Given the description of an element on the screen output the (x, y) to click on. 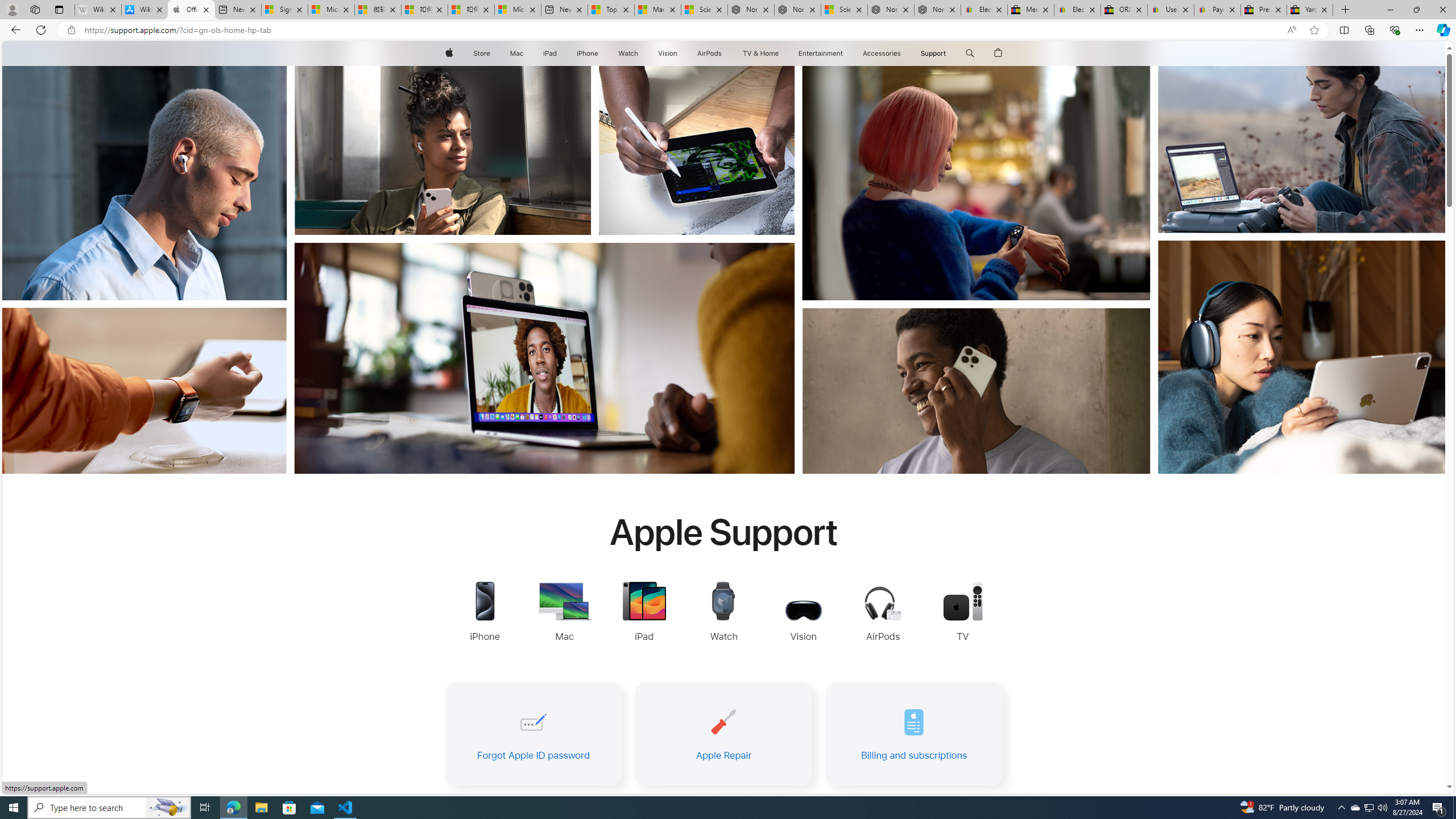
Accessories (881, 53)
Apple Vision Pro Support (802, 612)
Mac menu (524, 53)
Store (481, 53)
AutomationID: globalnav-bag (998, 53)
iPad menu (557, 53)
Store (481, 53)
Mac (516, 53)
Support (932, 53)
Store menu (492, 53)
Apple Watch Support (724, 612)
